Given the description of an element on the screen output the (x, y) to click on. 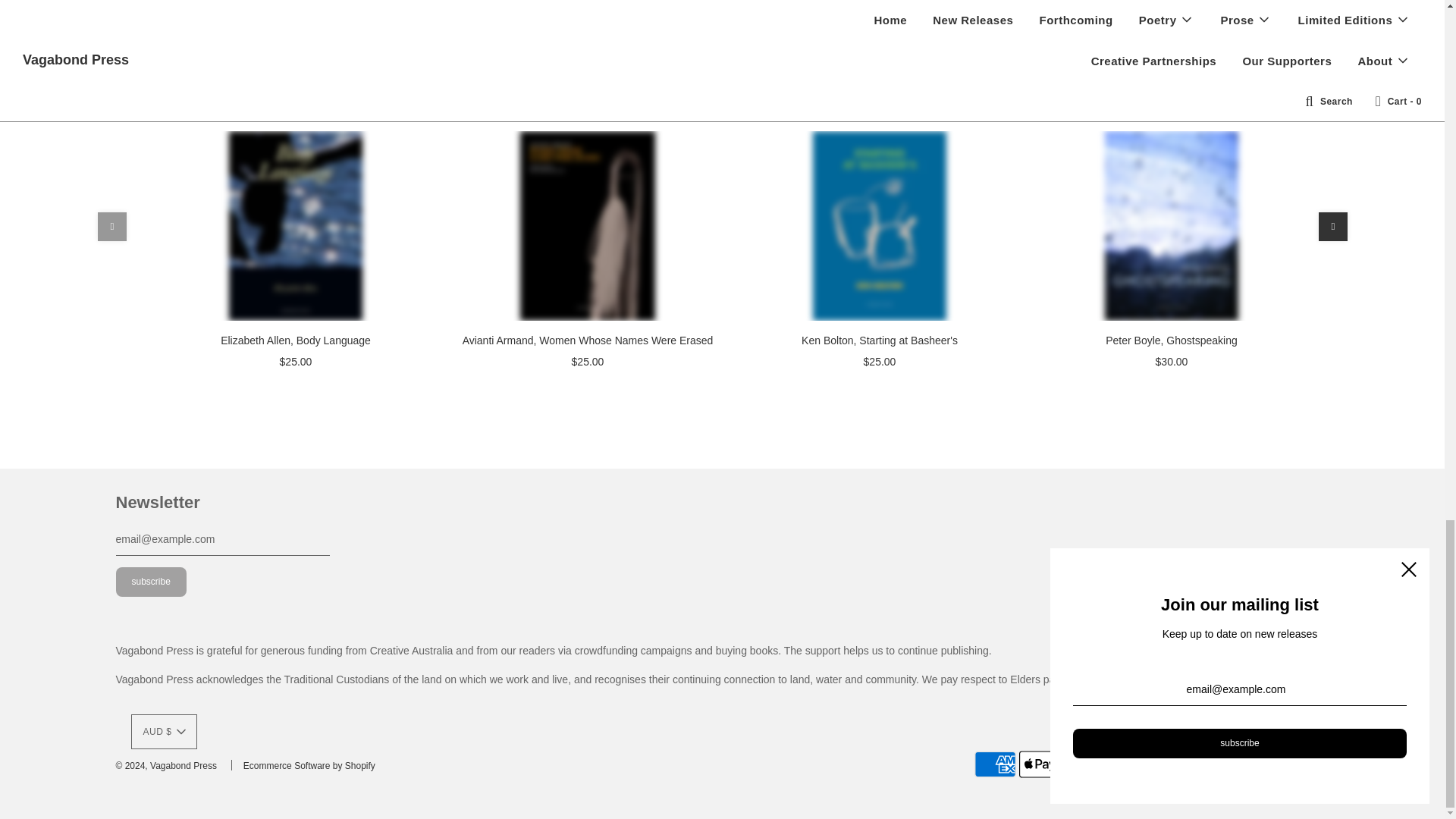
Subscribe (150, 582)
Shop Pay (1219, 764)
Ken Bolton, Starting at Basheer's (878, 226)
Peter Boyle, Ghostspeaking (1171, 226)
Elizabeth Allen, Body Language (294, 226)
Google Pay (1084, 764)
PayPal (1174, 764)
Union Pay (1263, 764)
Mastercard (1129, 764)
Visa (1308, 764)
American Express (995, 764)
Apple Pay (1040, 764)
Avianti Armand, Women Whose Names Were Erased (587, 226)
